Given the description of an element on the screen output the (x, y) to click on. 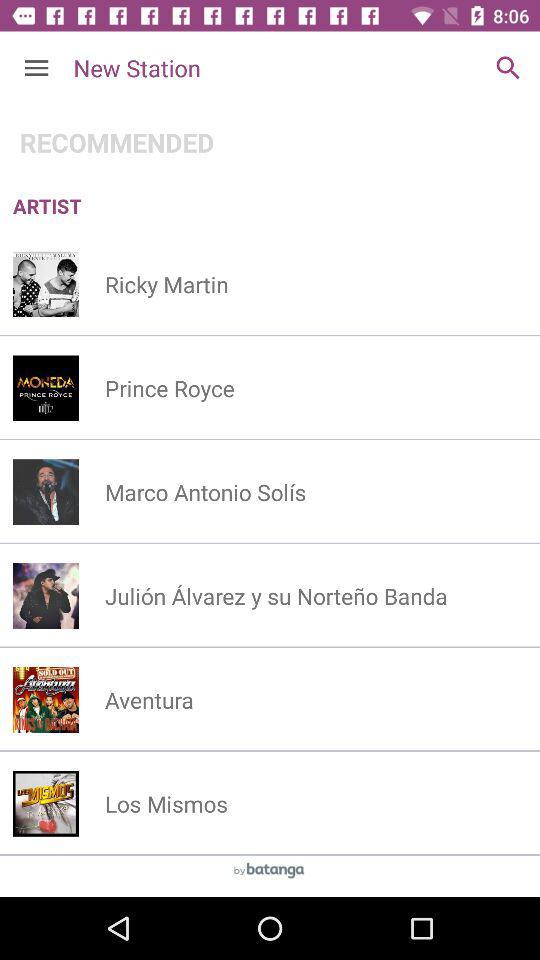
turn on the item to the right of the new station (508, 67)
